Given the description of an element on the screen output the (x, y) to click on. 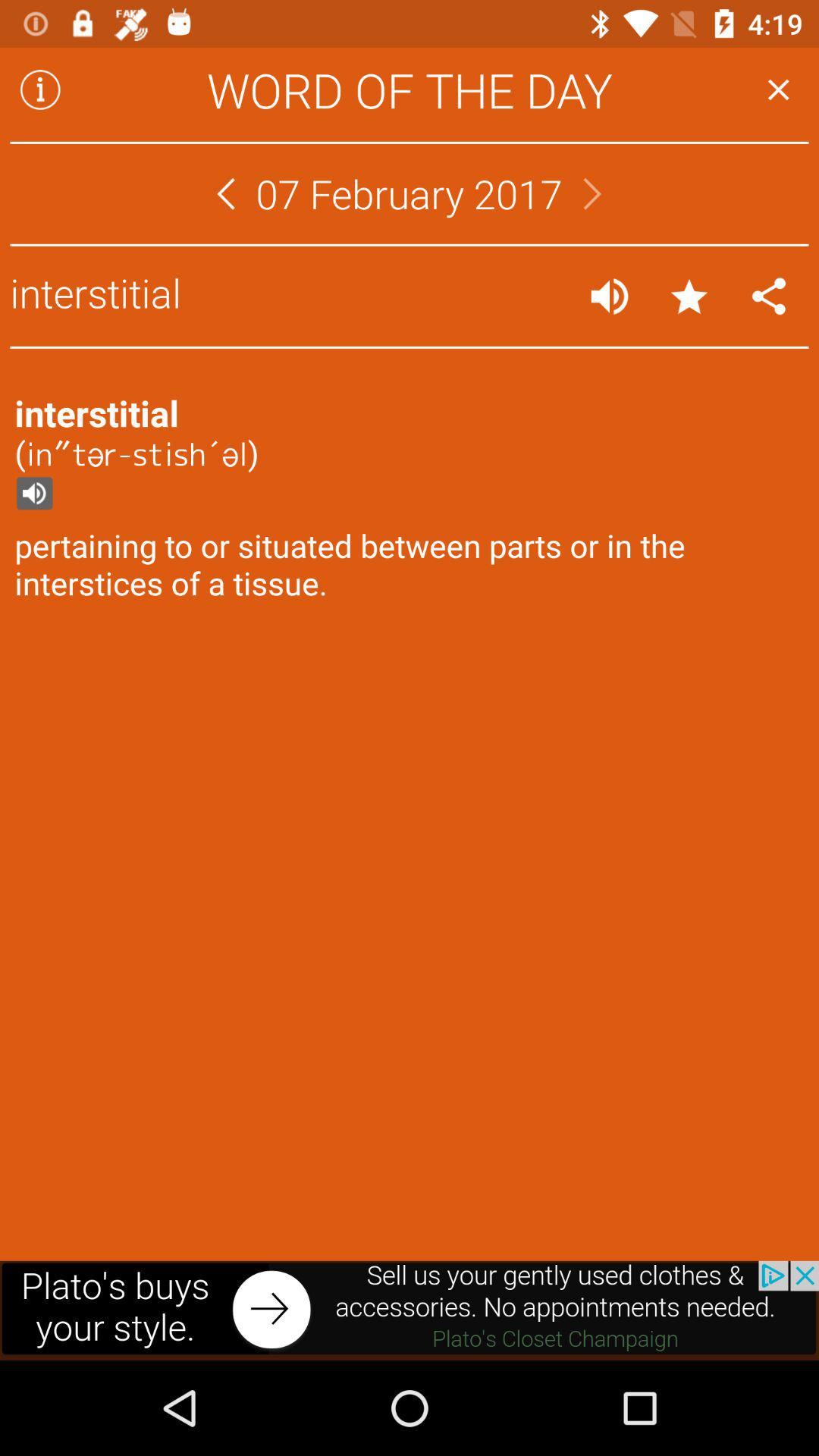
favorite (689, 296)
